Given the description of an element on the screen output the (x, y) to click on. 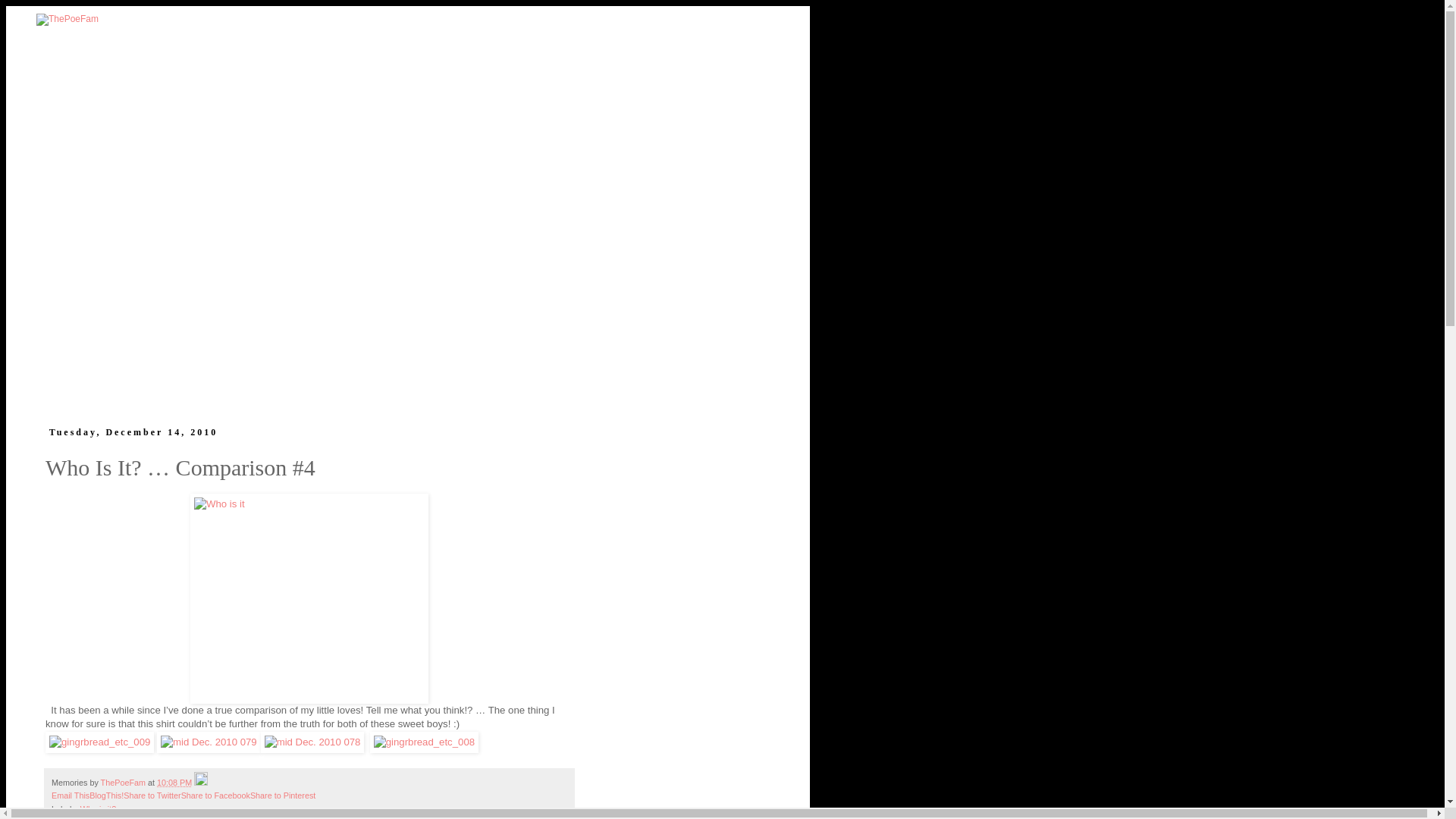
Who is it (309, 598)
Share to Facebook (215, 795)
BlogThis! (105, 795)
Share to Twitter (151, 795)
Share to Pinterest (282, 795)
Who is it? (98, 809)
Edit Post (200, 782)
ThePoeFam (124, 782)
Email This (69, 795)
Email This (69, 795)
author profile (124, 782)
mid Dec. 2010 078 (312, 742)
Share to Twitter (151, 795)
10:08 PM (174, 782)
Share to Facebook (215, 795)
